Given the description of an element on the screen output the (x, y) to click on. 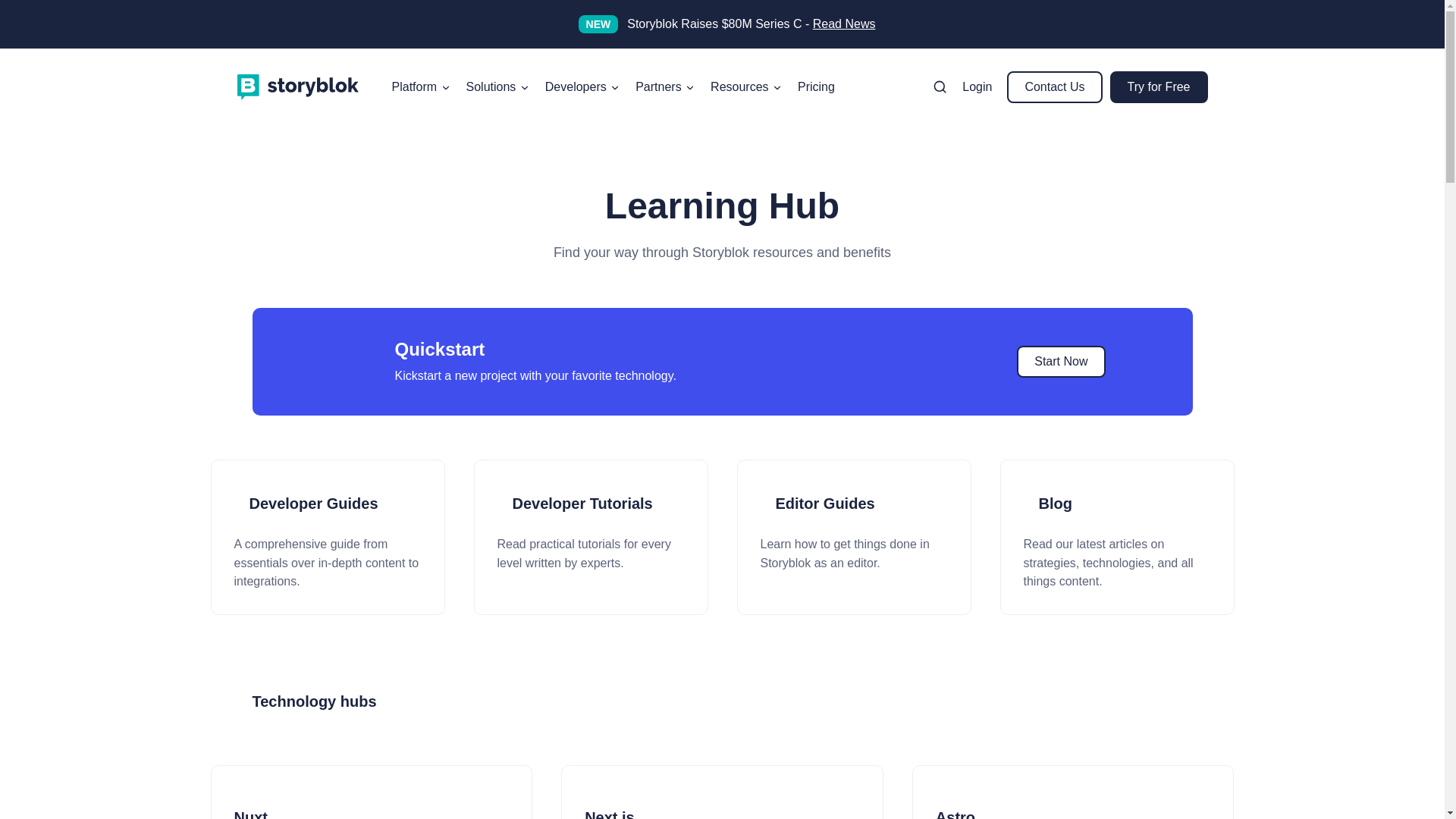
Developers (582, 86)
Solutions (497, 86)
Platform (421, 86)
Pricing (816, 86)
Navigate to Platform (421, 86)
Read News (844, 23)
Skip to main content (7, 74)
Navigate to Solutions (497, 86)
Navigate to Developers (582, 86)
Partners (665, 86)
